Given the description of an element on the screen output the (x, y) to click on. 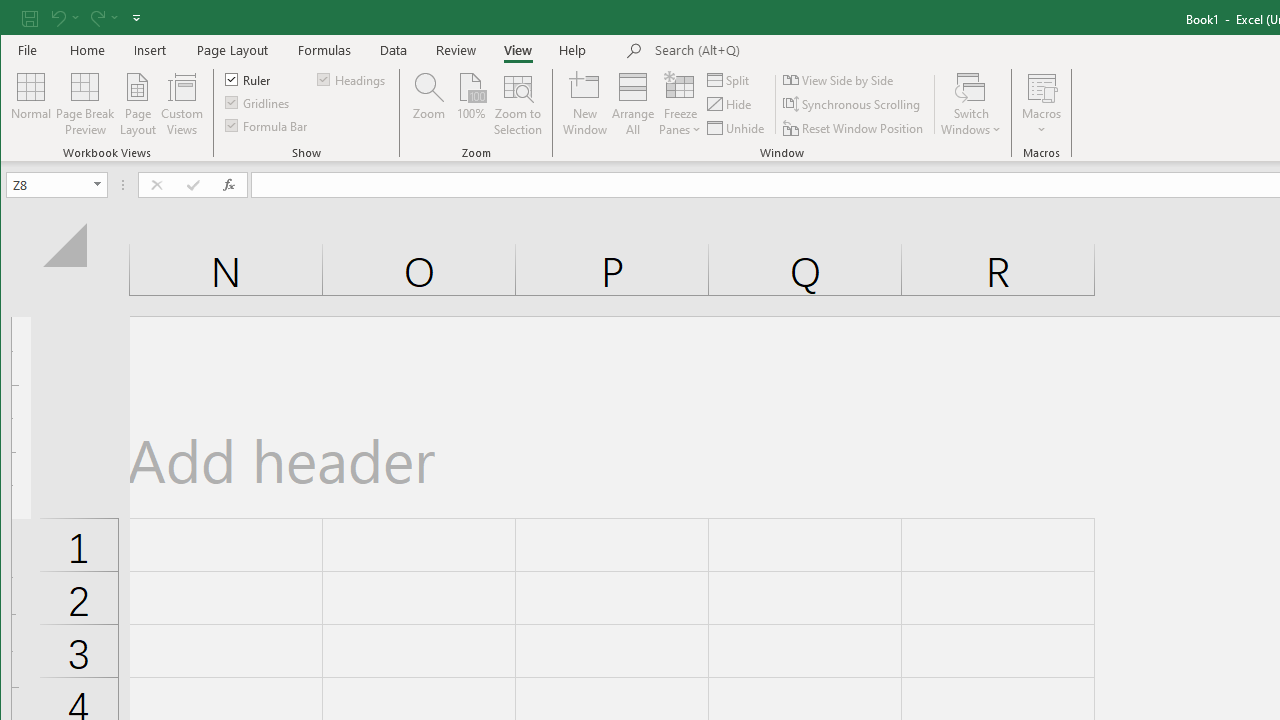
Synchronous Scrolling (852, 103)
Zoom to Selection (518, 104)
100% (470, 104)
View Macros (1041, 86)
Arrange All (633, 104)
Zoom... (429, 104)
